Given the description of an element on the screen output the (x, y) to click on. 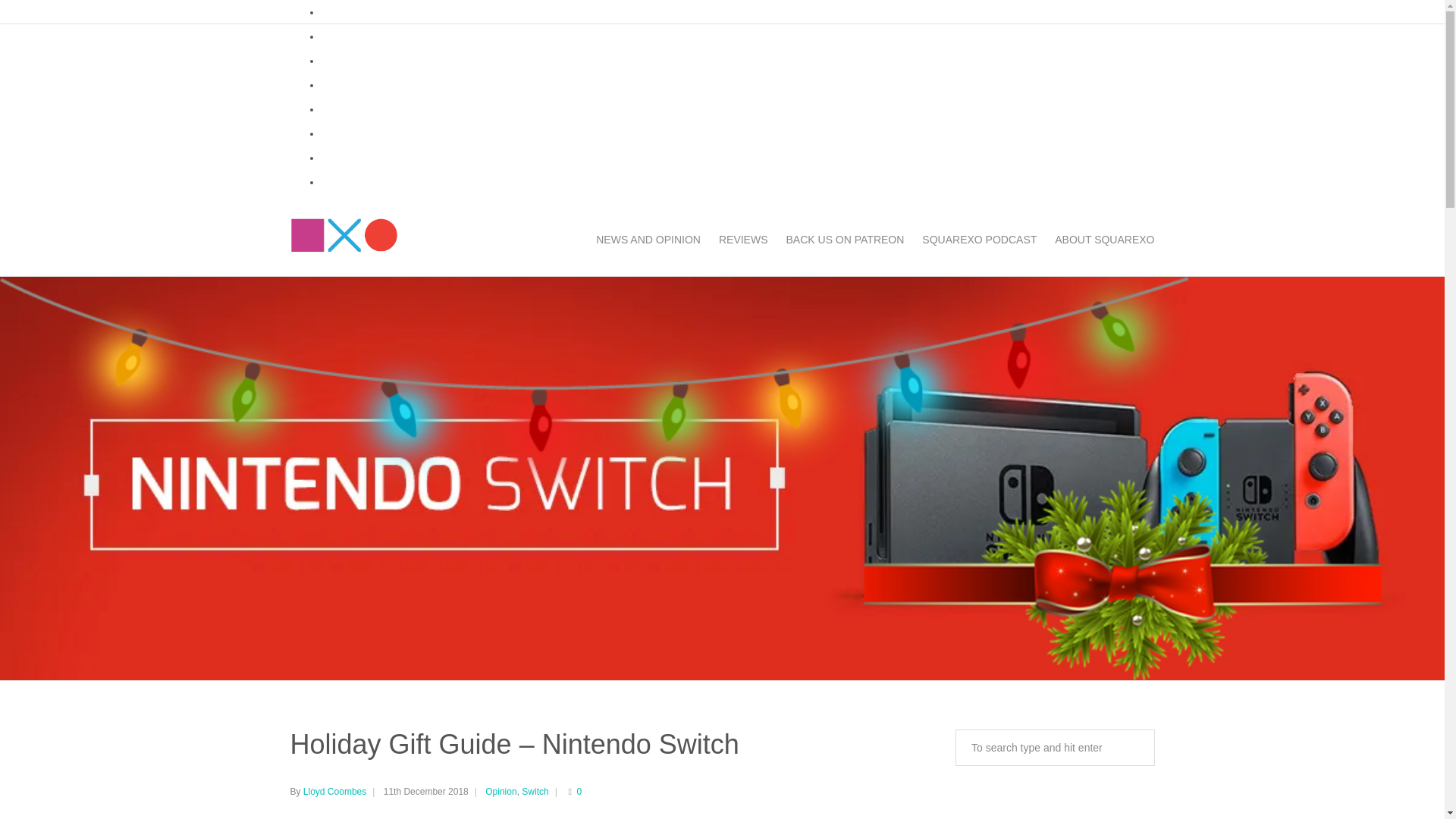
Lloyd Coombes (334, 791)
Opinion (500, 791)
ABOUT SQUAREXO (1099, 239)
REVIEWS (743, 239)
Switch (534, 791)
SquareXO (343, 239)
Switch (534, 791)
SQUAREXO PODCAST (978, 239)
Opinion (500, 791)
BACK US ON PATREON (845, 239)
